Given the description of an element on the screen output the (x, y) to click on. 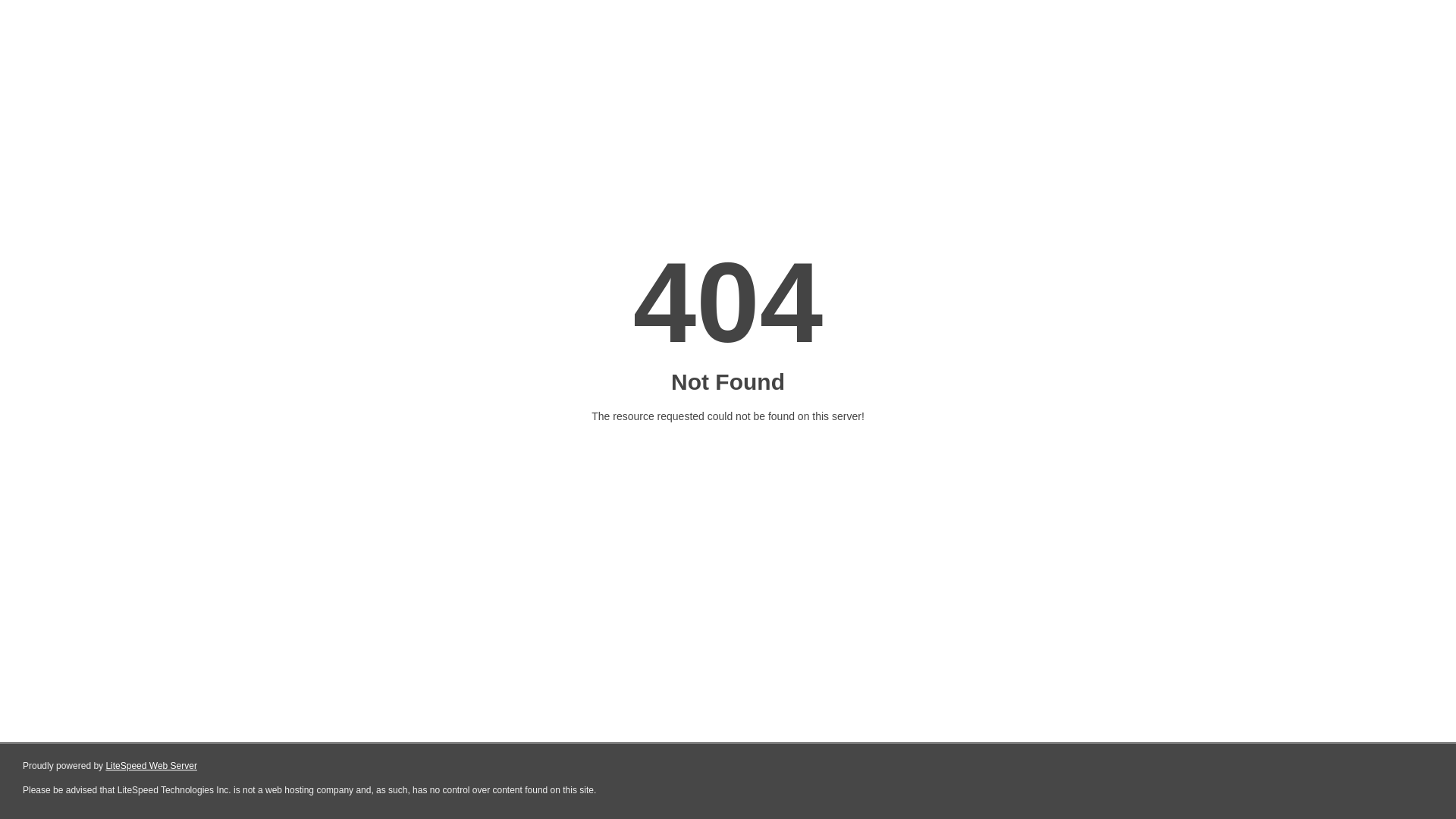
LiteSpeed Web Server Element type: text (151, 765)
